Given the description of an element on the screen output the (x, y) to click on. 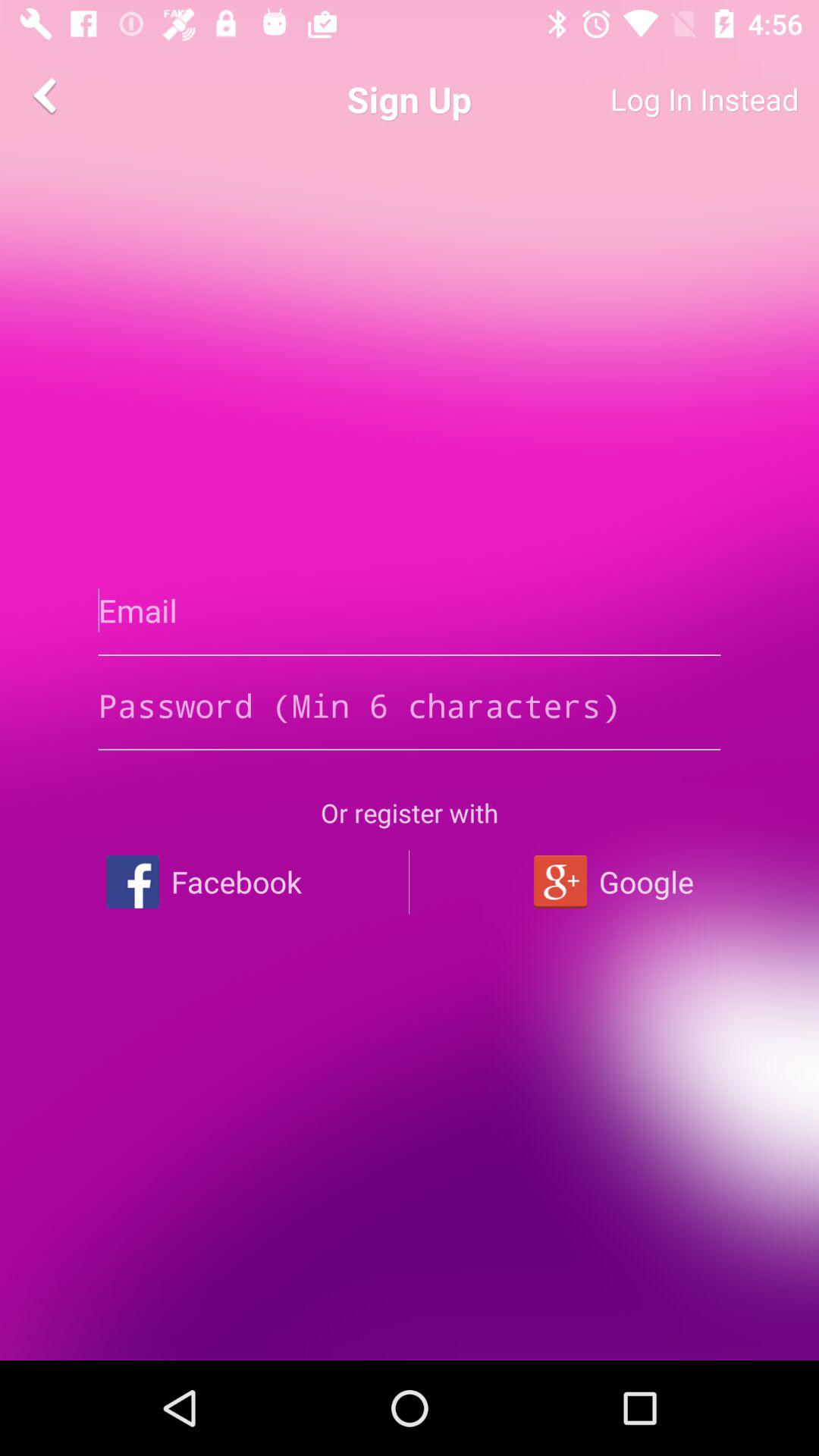
choose the log in instead at the top right corner (649, 99)
